Given the description of an element on the screen output the (x, y) to click on. 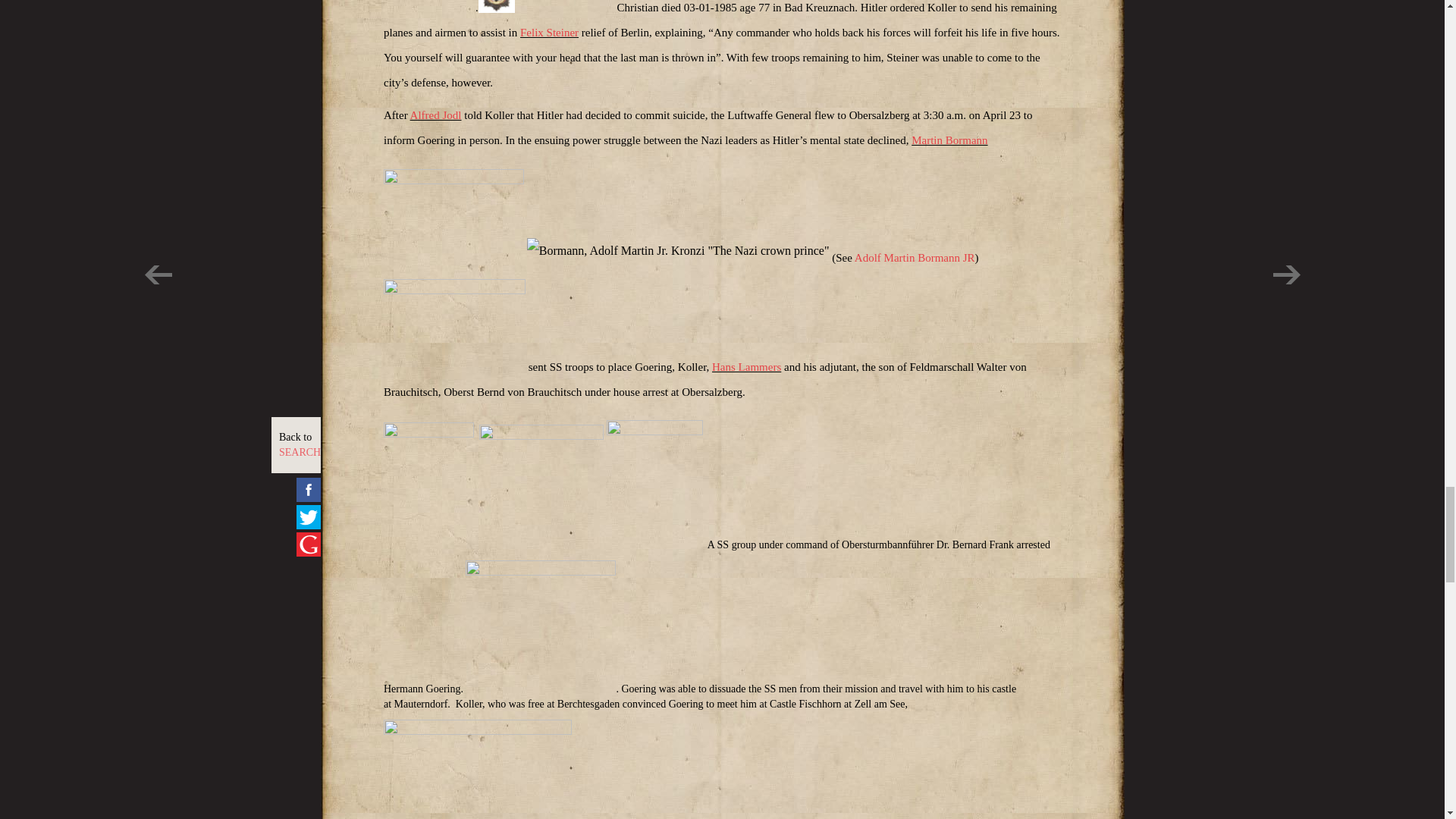
Hans Lammers (745, 367)
Adolf Martin Bormann JR (914, 257)
Alfred Jodl (435, 114)
Martin Bormann (949, 140)
Felix Steiner (548, 32)
